Given the description of an element on the screen output the (x, y) to click on. 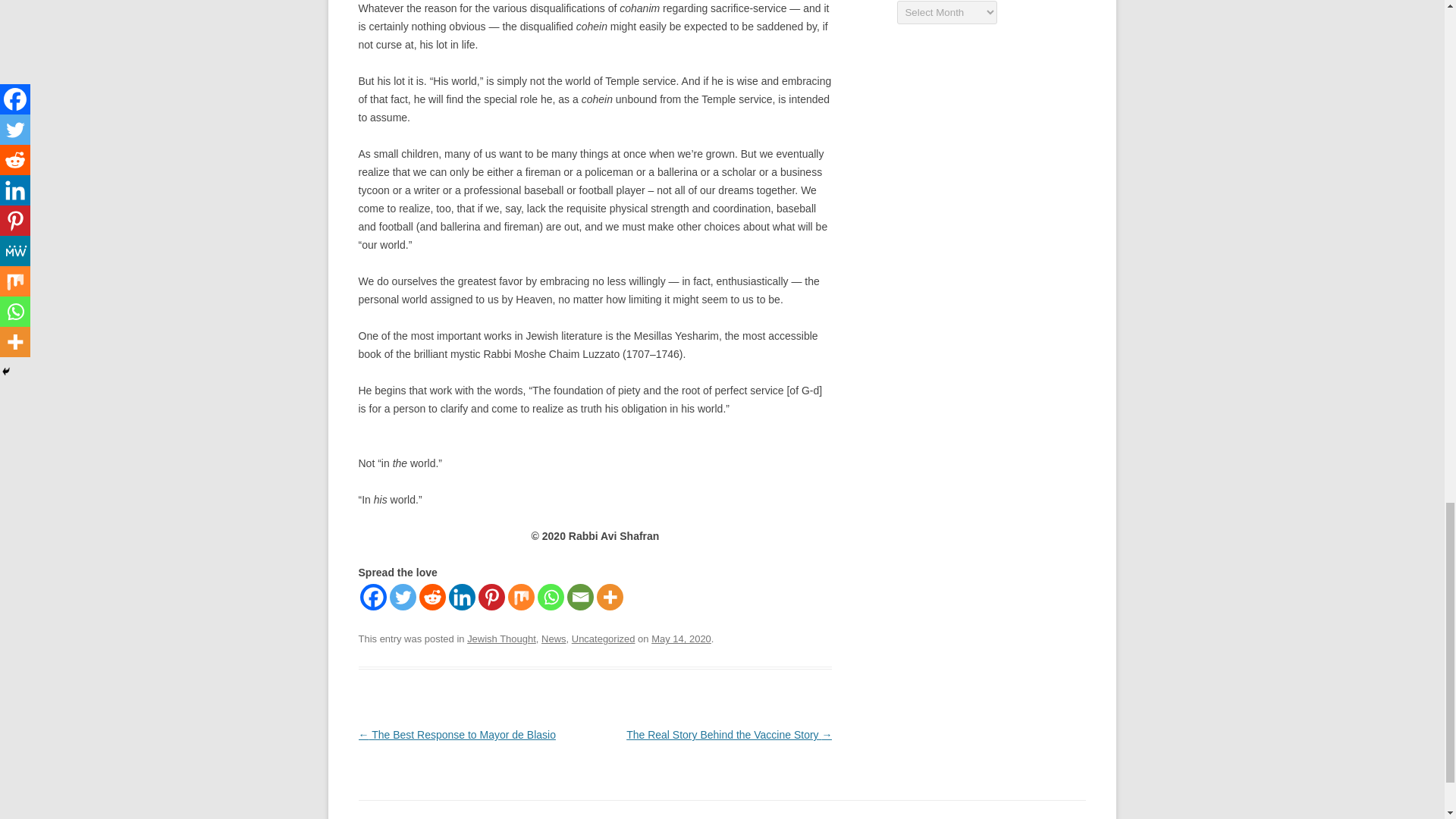
Uncategorized (603, 638)
Email (580, 596)
Mix (521, 596)
Pinterest (490, 596)
May 14, 2020 (680, 638)
More (609, 596)
Facebook (372, 596)
Whatsapp (550, 596)
Jewish Thought (501, 638)
Linkedin (462, 596)
Reddit (432, 596)
Twitter (403, 596)
News (553, 638)
